Given the description of an element on the screen output the (x, y) to click on. 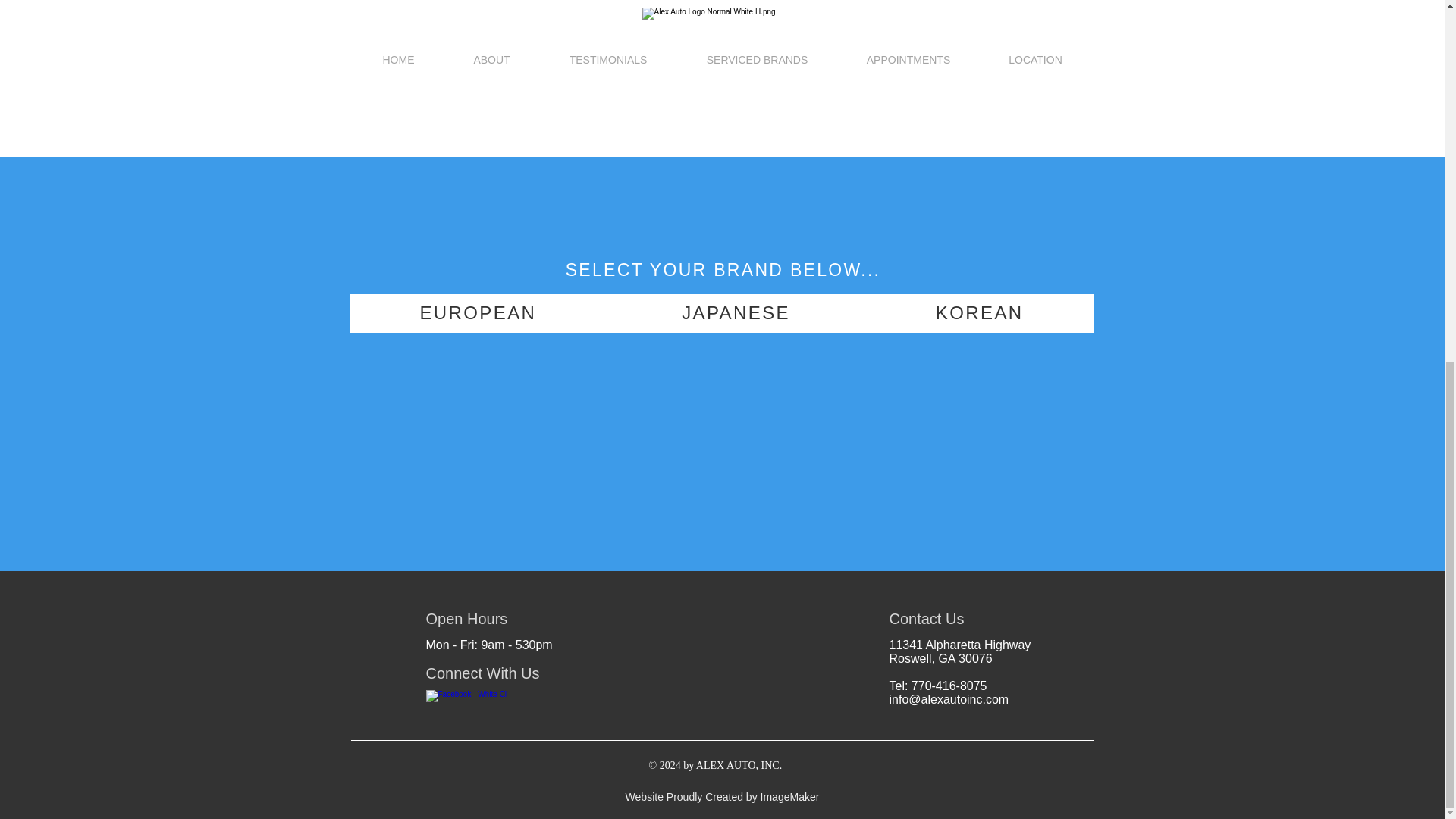
ImageMaker (789, 797)
770-416-8075 (949, 685)
